Given the description of an element on the screen output the (x, y) to click on. 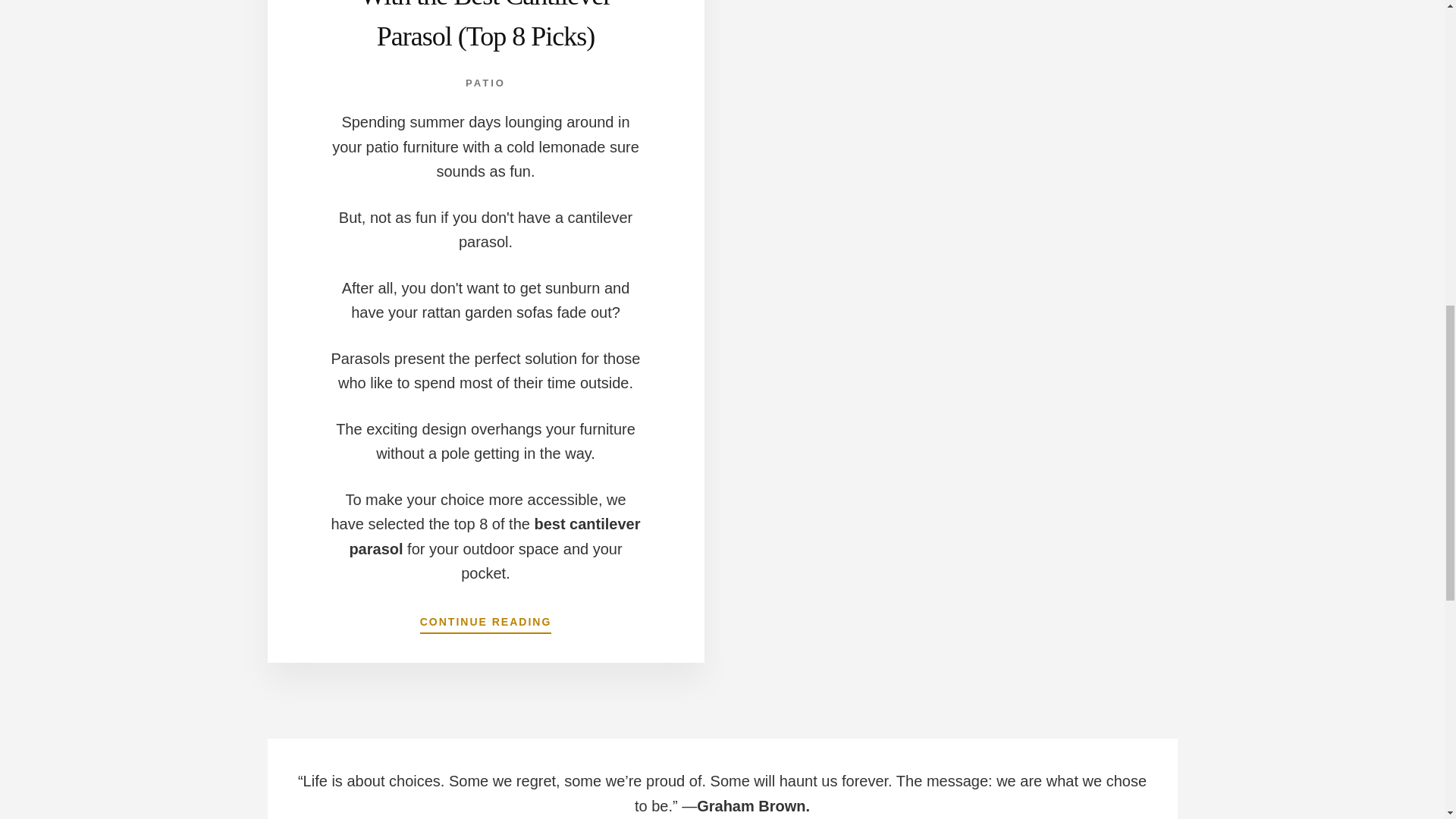
CONTINUE READING (485, 618)
PATIO (485, 82)
